Given the description of an element on the screen output the (x, y) to click on. 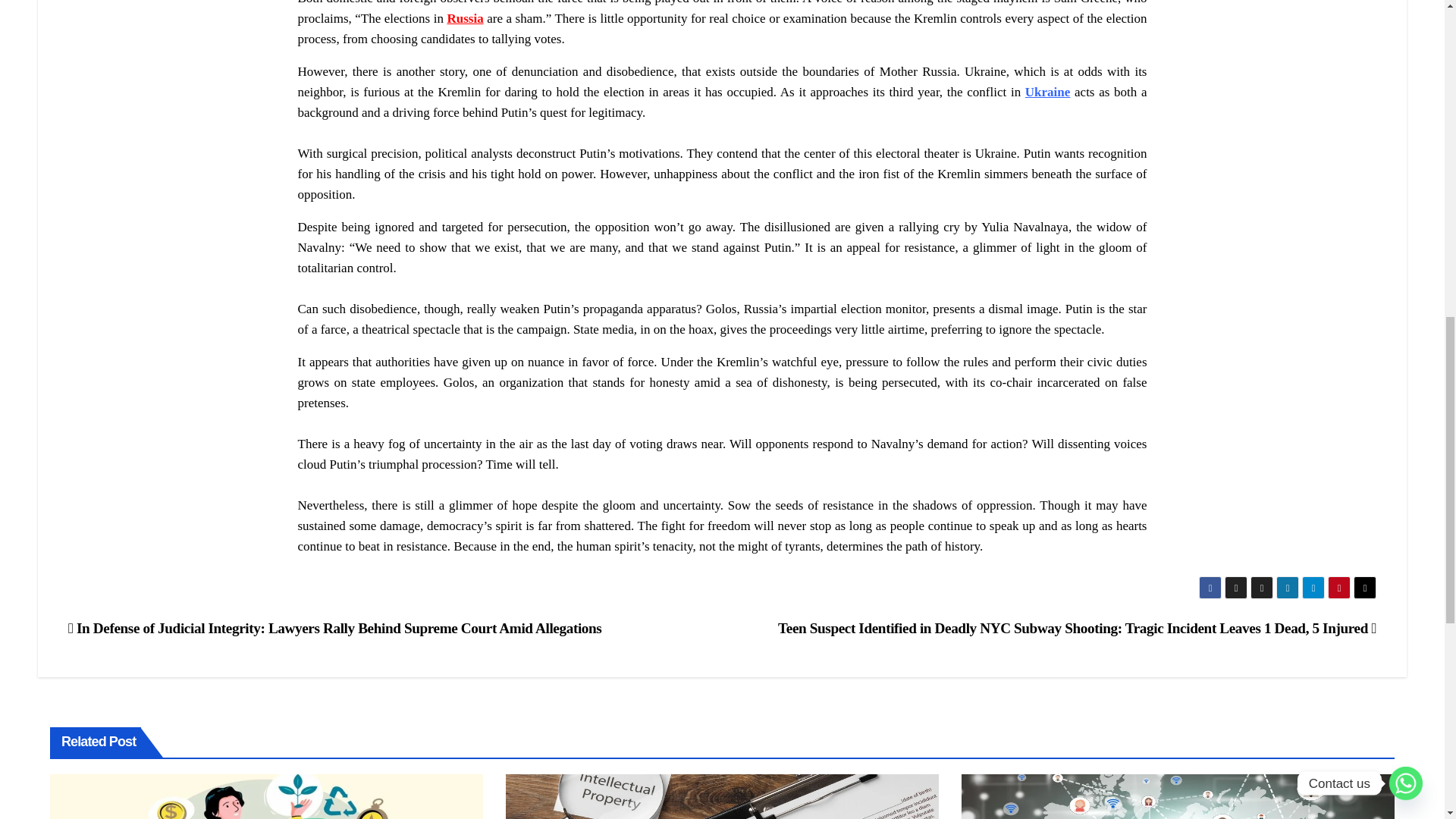
Ukraine (1047, 92)
Russia (464, 18)
